Given the description of an element on the screen output the (x, y) to click on. 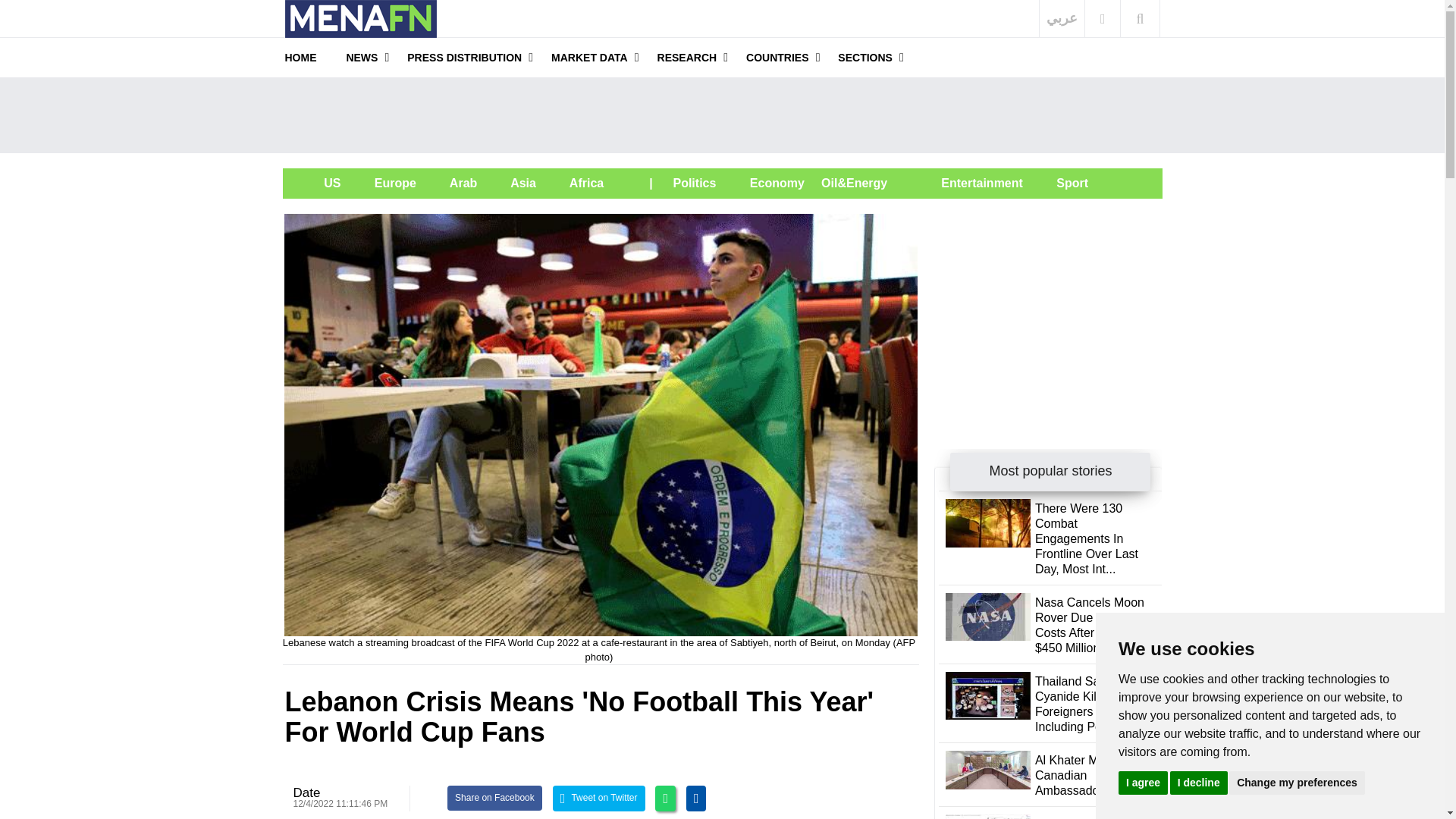
I agree (1142, 781)
I decline (1198, 781)
Posts by NewEdge (306, 792)
Advertisement (721, 115)
MARKET DATA (589, 56)
PRESS DISTRIBUTION (464, 56)
Change my preferences (1296, 781)
Advertisement (1047, 308)
